Given the description of an element on the screen output the (x, y) to click on. 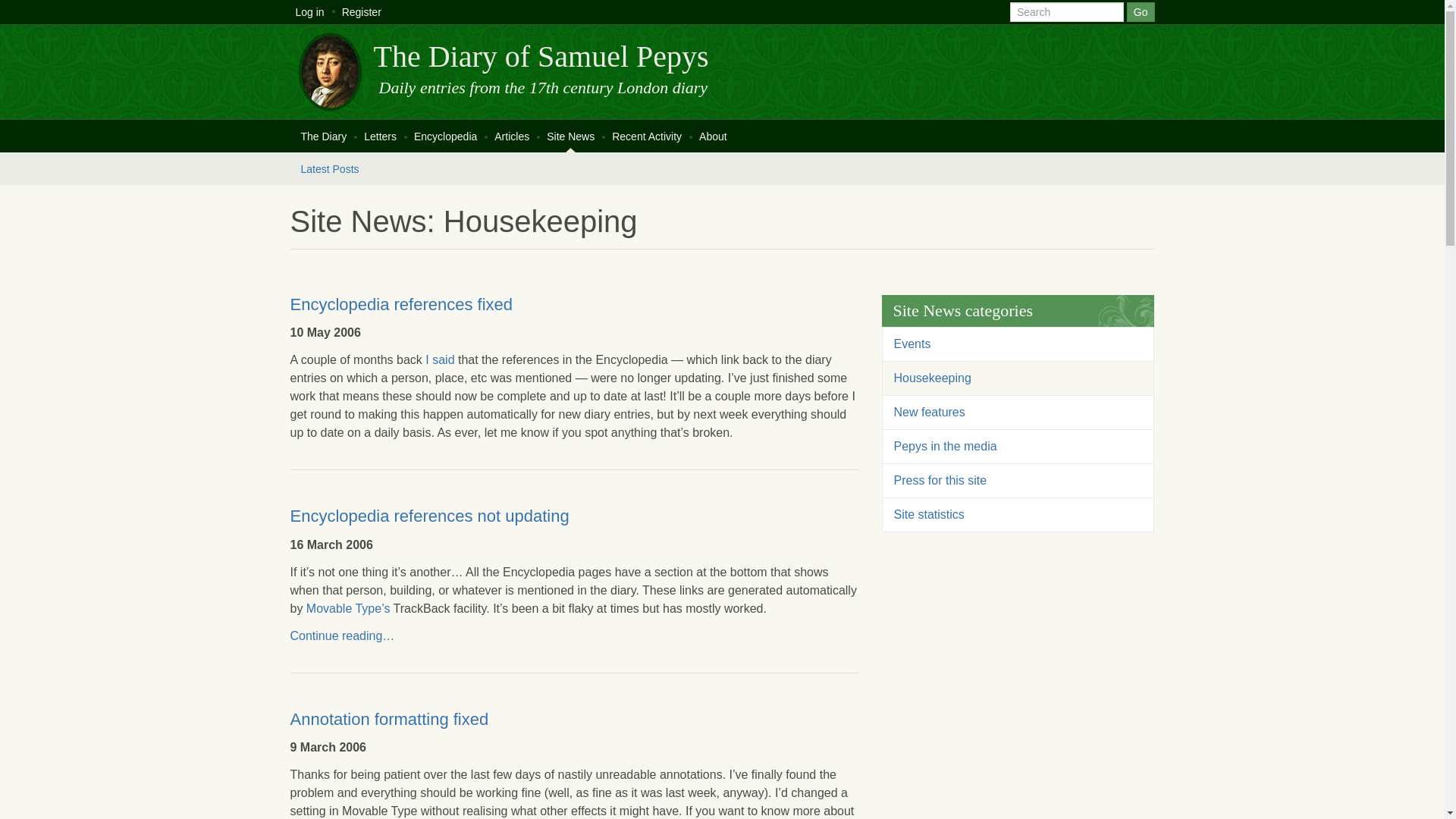
To the front page (539, 56)
The Diary (323, 135)
Annotation formatting fixed (388, 719)
I said (439, 359)
Letters (379, 135)
About (713, 135)
Encyclopedia references not updating (429, 515)
Encyclopedia references fixed (400, 303)
Encyclopedia (445, 135)
The Diary of Samuel Pepys (539, 56)
